Given the description of an element on the screen output the (x, y) to click on. 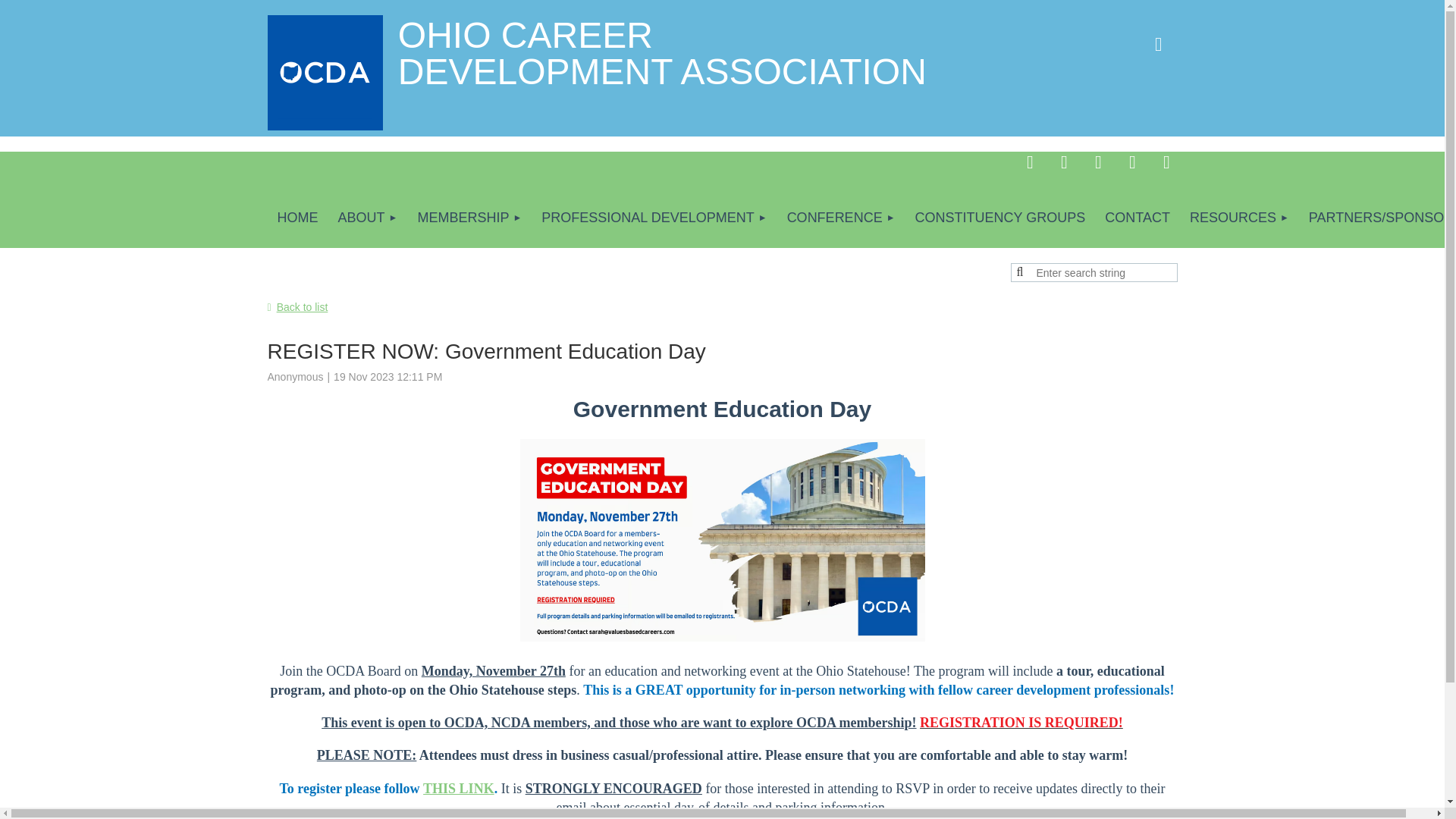
Log in (1157, 44)
HOME (296, 218)
ABOUT (367, 218)
